Given the description of an element on the screen output the (x, y) to click on. 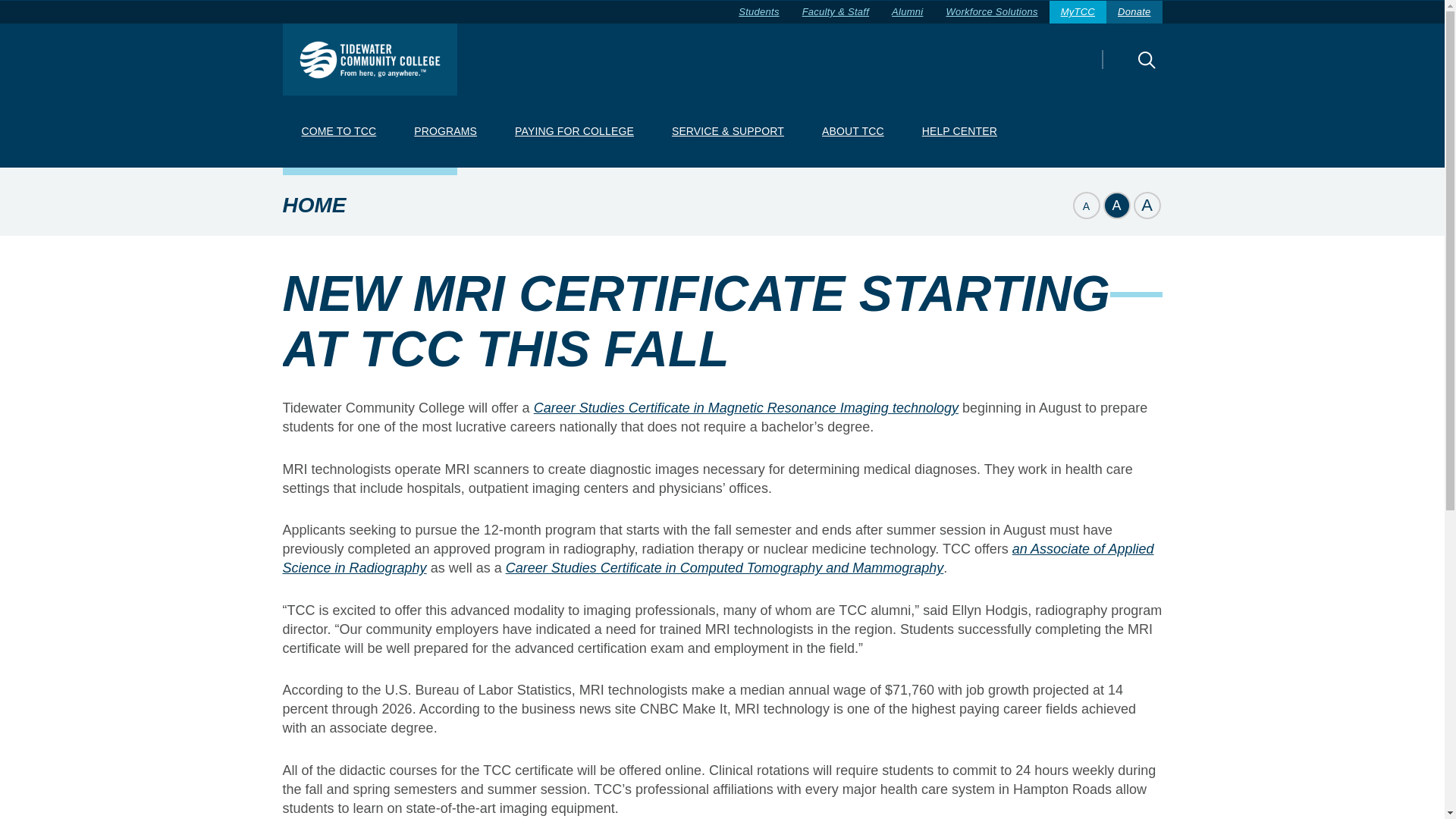
Set page copy to normal size (1115, 205)
Search (1119, 70)
Set page copy to large size (1146, 205)
Tidewater Community College (369, 59)
MyTCC (1077, 11)
COME TO TCC (338, 131)
Alumni (907, 11)
PAYING FOR COLLEGE (574, 131)
Workforce Solutions (991, 11)
PROGRAMS (445, 131)
